Given the description of an element on the screen output the (x, y) to click on. 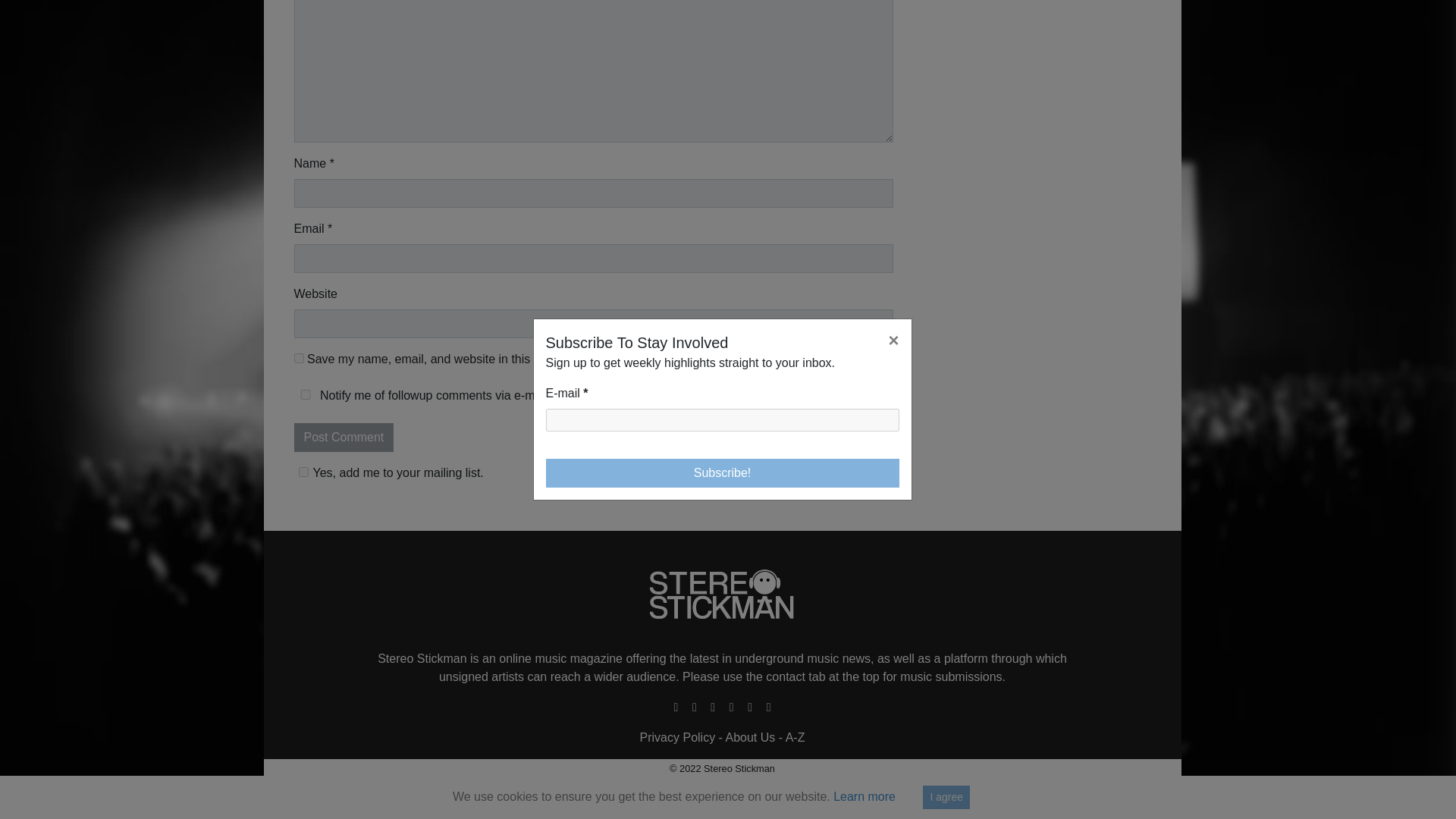
Post Comment (344, 437)
